Given the description of an element on the screen output the (x, y) to click on. 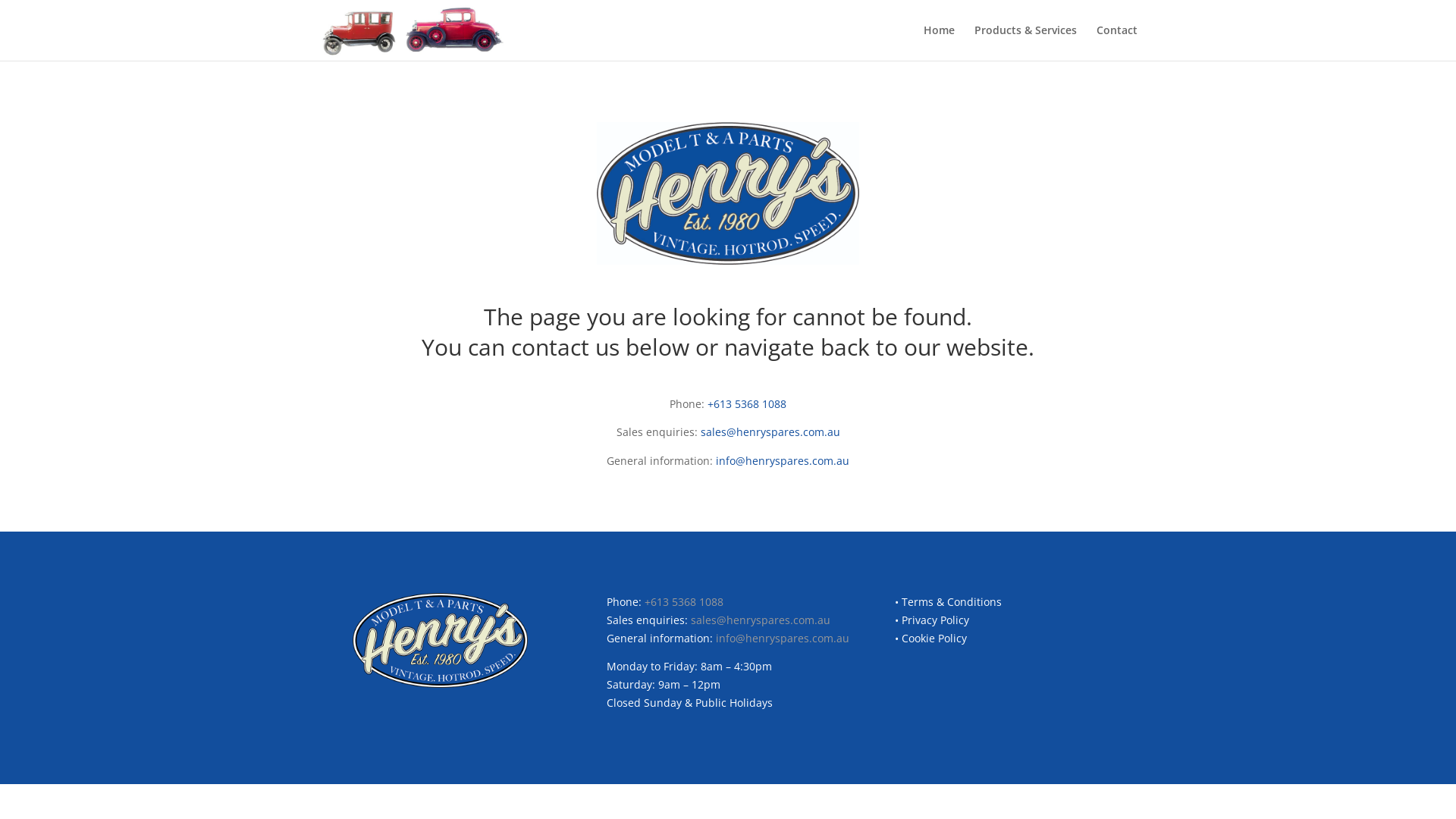
info@henryspares.com.au Element type: text (782, 460)
Products & Services Element type: text (1025, 42)
info@henryspares.com.au Element type: text (782, 637)
+613 5368 1088 Element type: text (746, 403)
Contact Element type: text (1116, 42)
Home Element type: text (938, 42)
sales@henryspares.com.au Element type: text (760, 619)
sales@henryspares.com.au Element type: text (770, 431)
+613 5368 1088 Element type: text (683, 601)
